Given the description of an element on the screen output the (x, y) to click on. 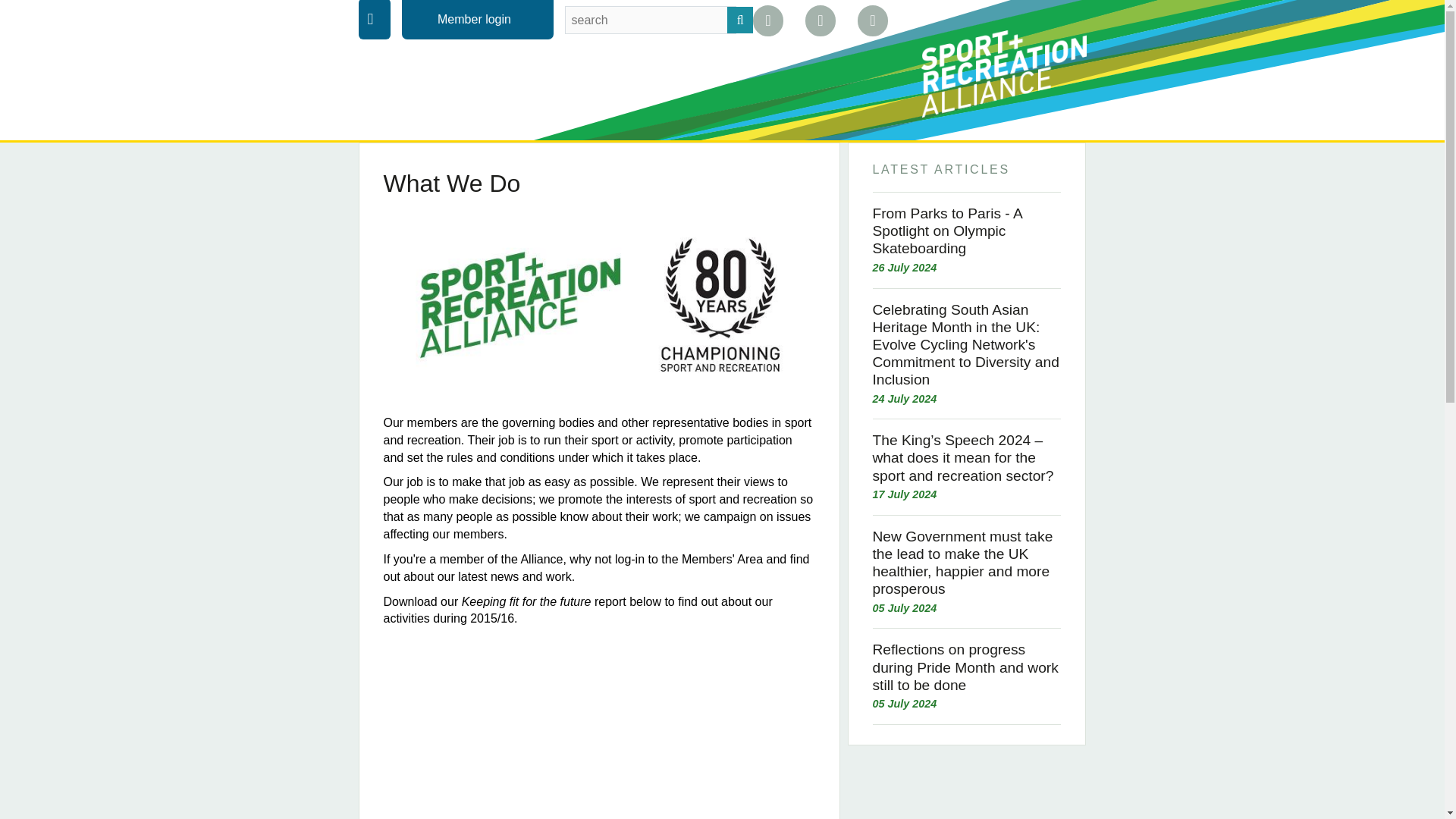
Member login (476, 18)
